Given the description of an element on the screen output the (x, y) to click on. 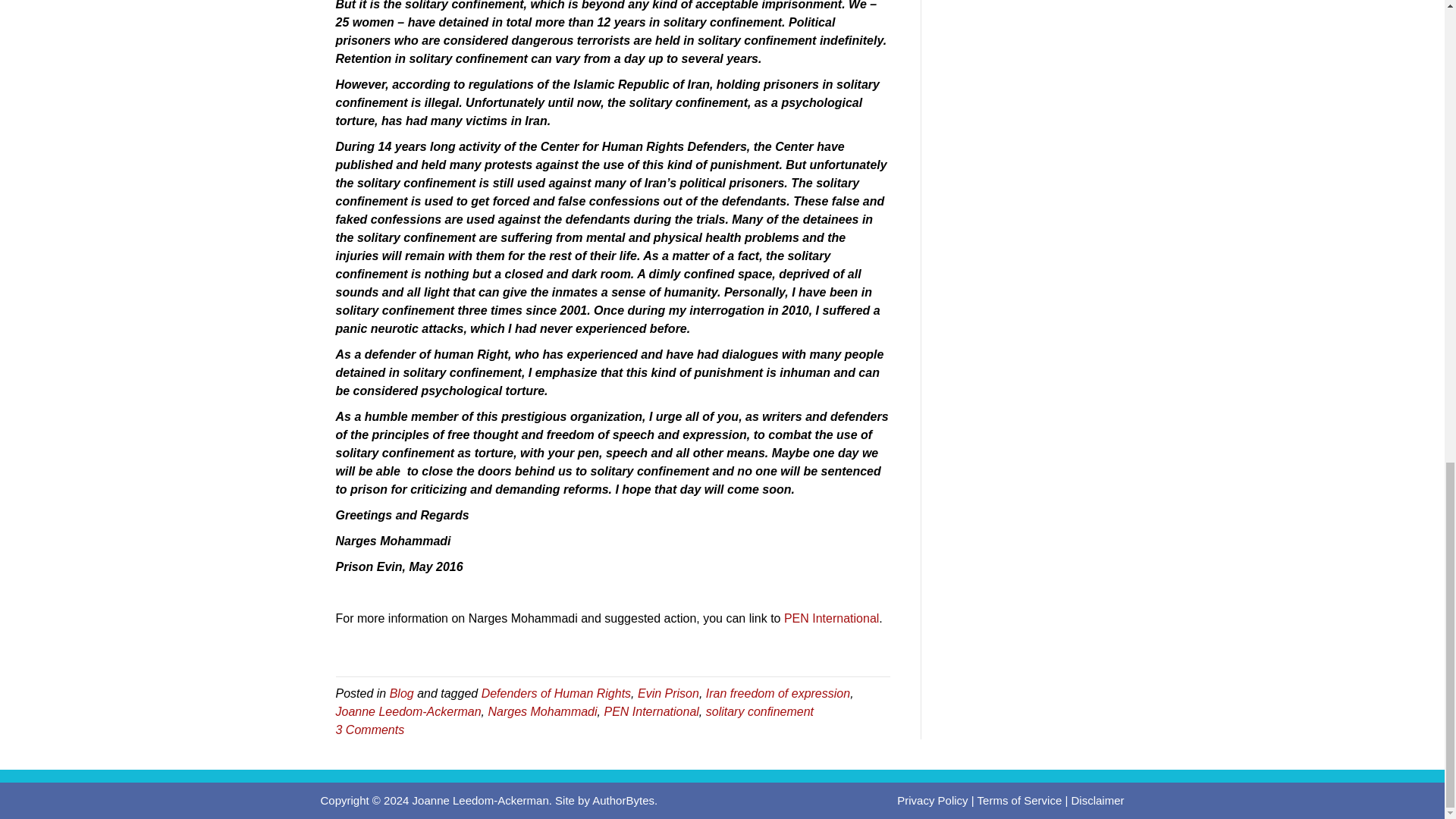
Iran freedom of expression (778, 693)
PEN International (831, 617)
Defenders of Human Rights (555, 693)
PEN International (651, 711)
Evin Prison (667, 693)
3 Comments (369, 729)
Blog (401, 693)
solitary confinement (759, 711)
Joanne Leedom-Ackerman (407, 711)
Narges Mohammadi (541, 711)
